Given the description of an element on the screen output the (x, y) to click on. 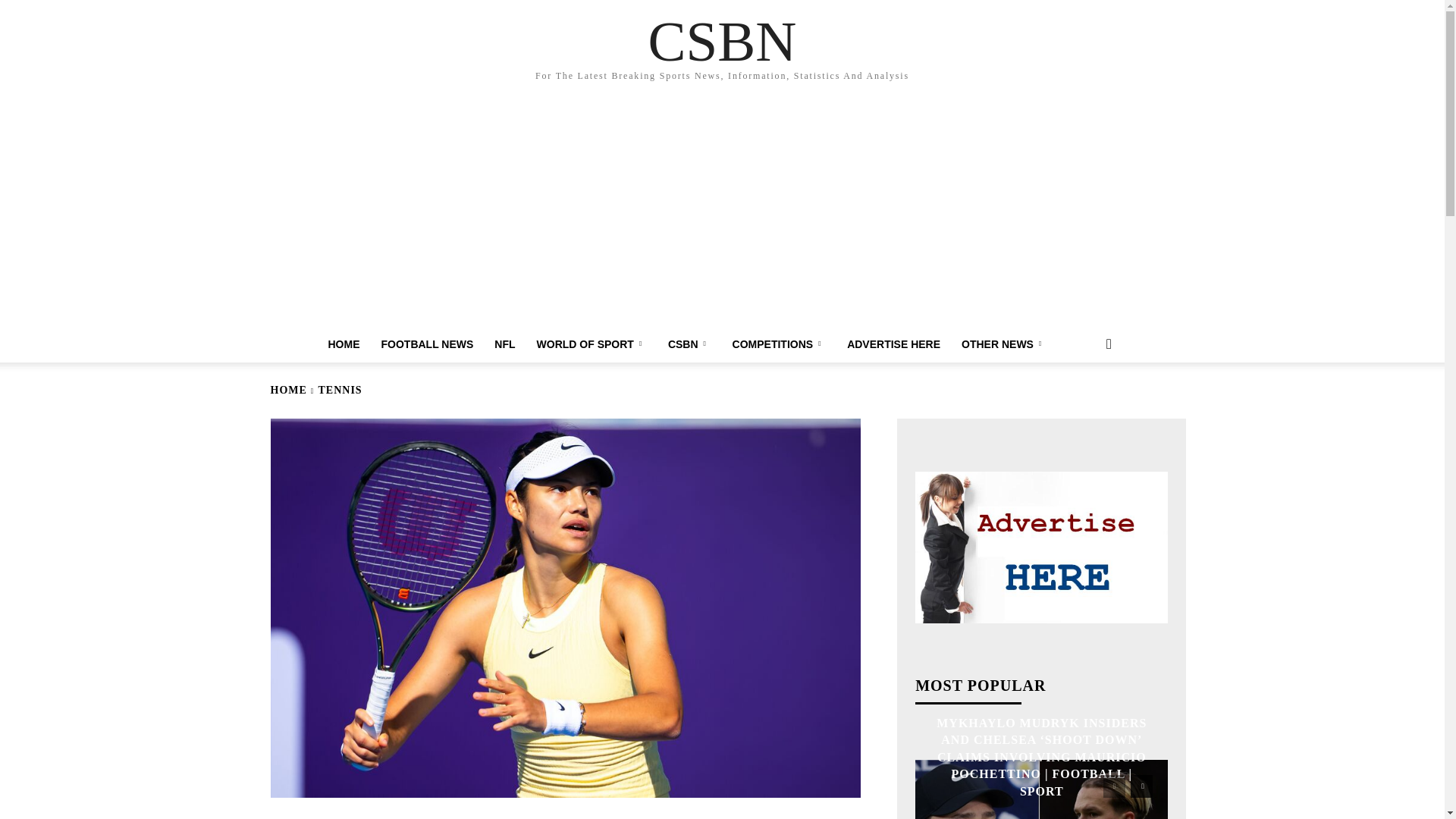
NFL (504, 343)
HOME (343, 343)
CSBN (721, 41)
View all posts in TENNIS (340, 389)
WORLD OF SPORT (591, 343)
CSBN (690, 343)
ADVERTISE HERE (892, 343)
OTHER NEWS (1003, 343)
FOOTBALL NEWS (426, 343)
COMPETITIONS (779, 343)
